Given the description of an element on the screen output the (x, y) to click on. 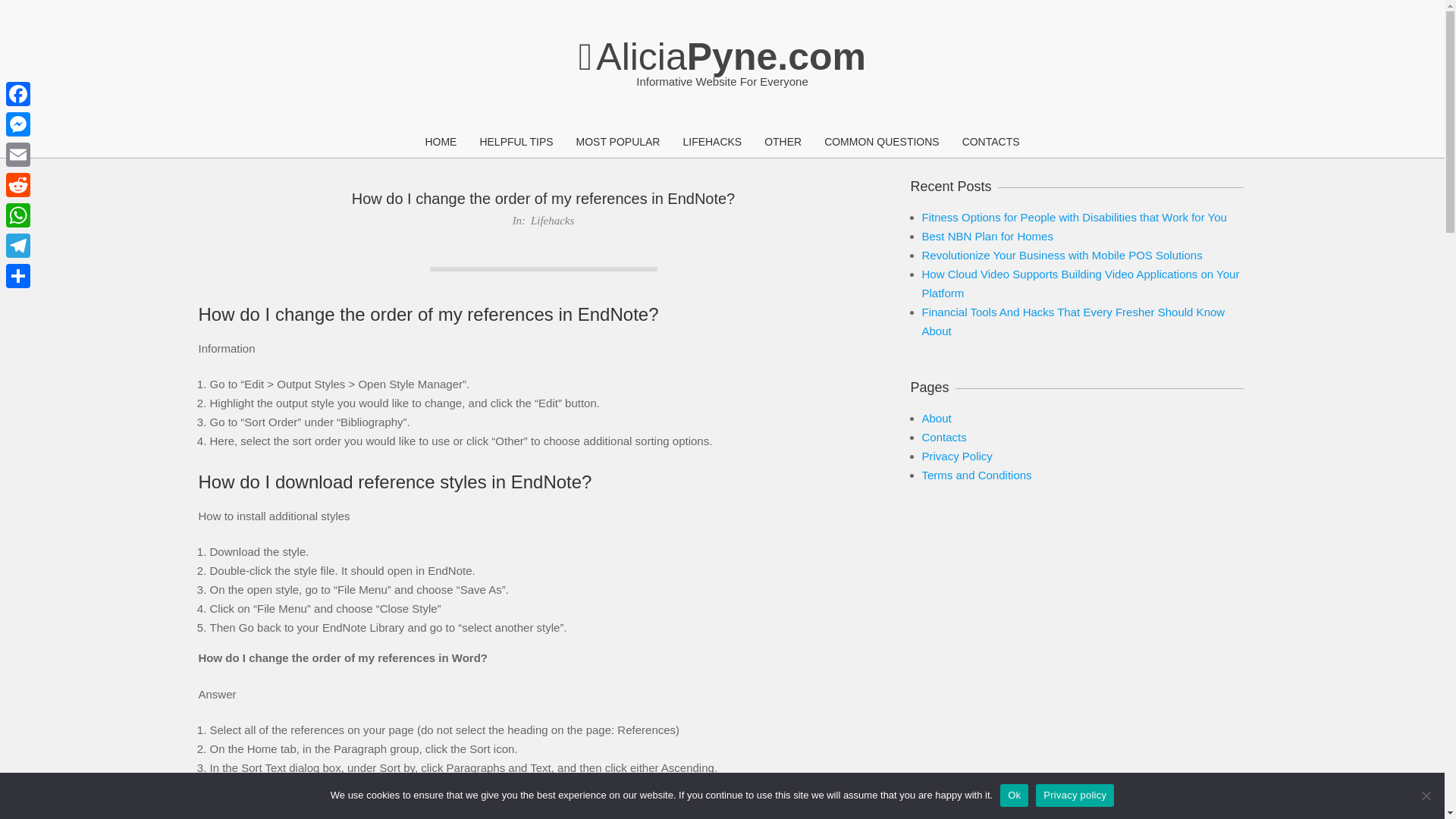
Email (17, 154)
Messenger (17, 123)
Contacts (943, 436)
AliciaPyne.com (722, 56)
Terms and Conditions (976, 474)
WhatsApp (17, 214)
Facebook (17, 93)
Share (17, 276)
No (1425, 795)
CONTACTS (990, 142)
COMMON QUESTIONS (881, 142)
Revolutionize Your Business with Mobile POS Solutions (1061, 254)
HELPFUL TIPS (515, 142)
WhatsApp (17, 214)
